Given the description of an element on the screen output the (x, y) to click on. 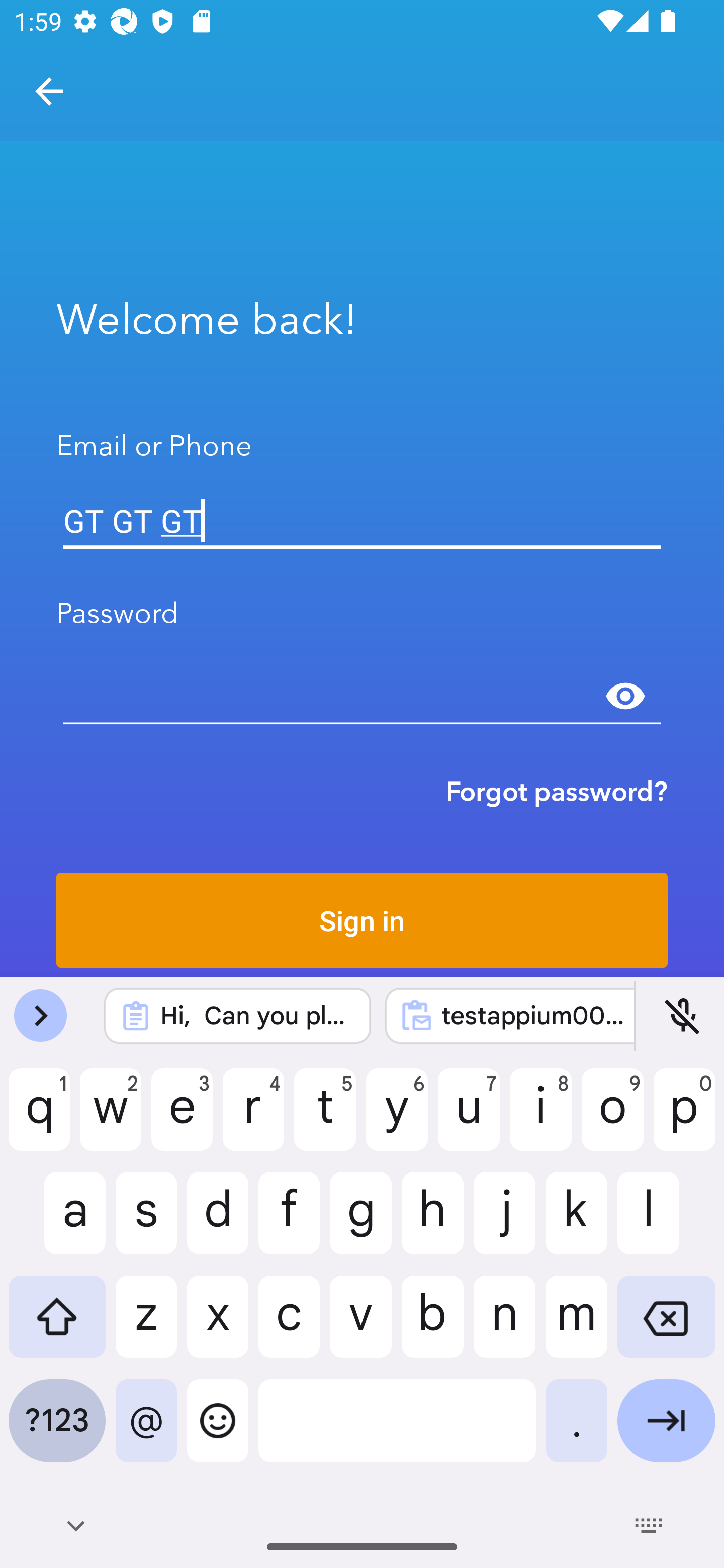
Navigate up (49, 91)
GT GT GT (361, 521)
Show password (625, 695)
Forgot password? (556, 790)
Sign in (361, 920)
